Given the description of an element on the screen output the (x, y) to click on. 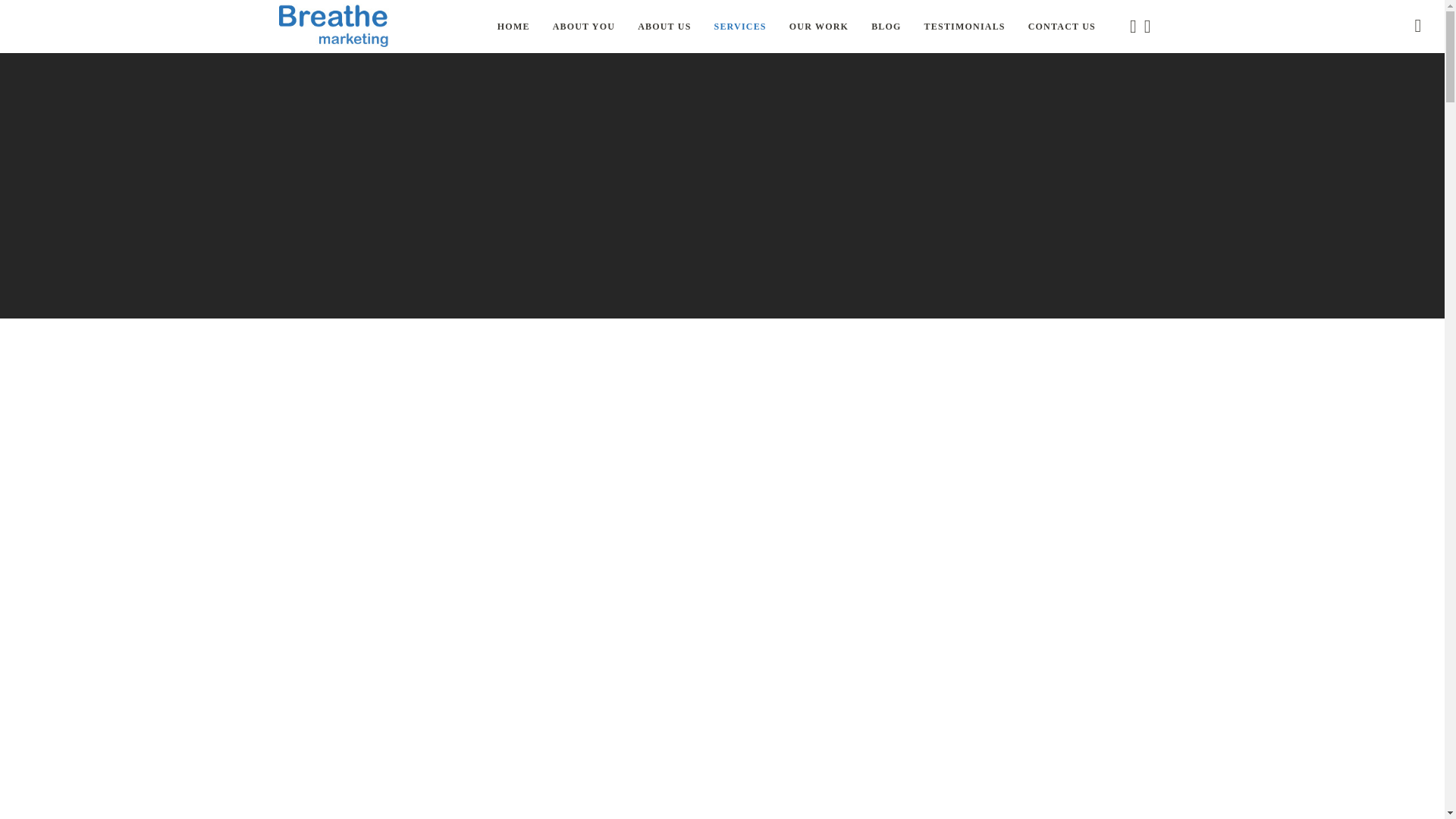
SERVICES (740, 26)
CONTACT US (1061, 26)
Breathe Marketing (334, 26)
ABOUT YOU (583, 26)
OUR WORK (818, 26)
TESTIMONIALS (965, 26)
ABOUT US (663, 26)
